Given the description of an element on the screen output the (x, y) to click on. 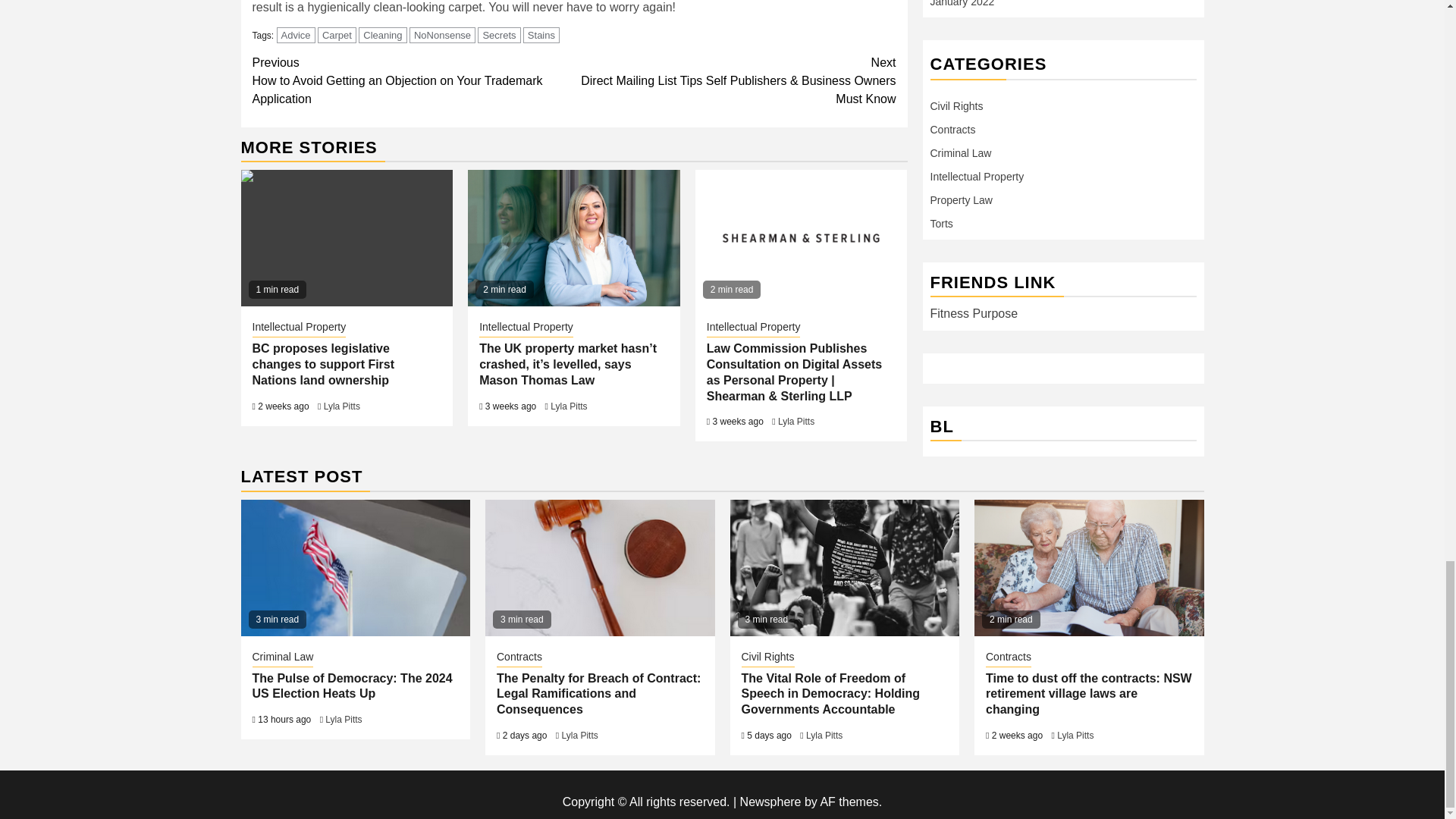
Intellectual Property (753, 328)
Intellectual Property (526, 328)
The Pulse of Democracy: The 2024 US Election Heats Up (355, 567)
Cleaning (382, 35)
Carpet (336, 35)
Stains (540, 35)
Intellectual Property (298, 328)
Advice (295, 35)
Lyla Pitts (341, 406)
